Given the description of an element on the screen output the (x, y) to click on. 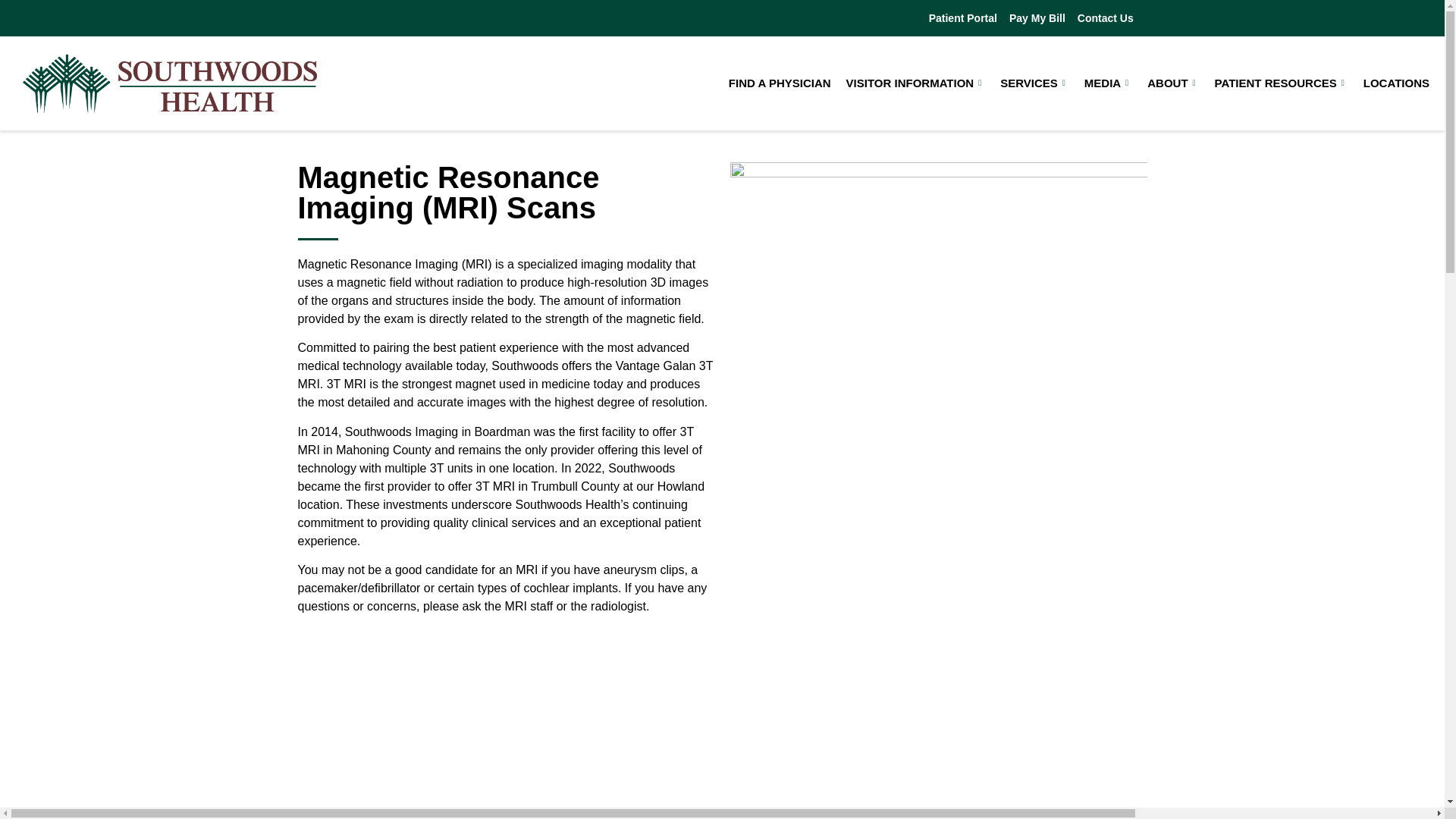
Contact Us (1105, 18)
Pay My Bill (1037, 18)
VISITOR INFORMATION (915, 82)
Patient Portal (962, 18)
FIND A PHYSICIAN (779, 82)
SERVICES (1034, 82)
